Given the description of an element on the screen output the (x, y) to click on. 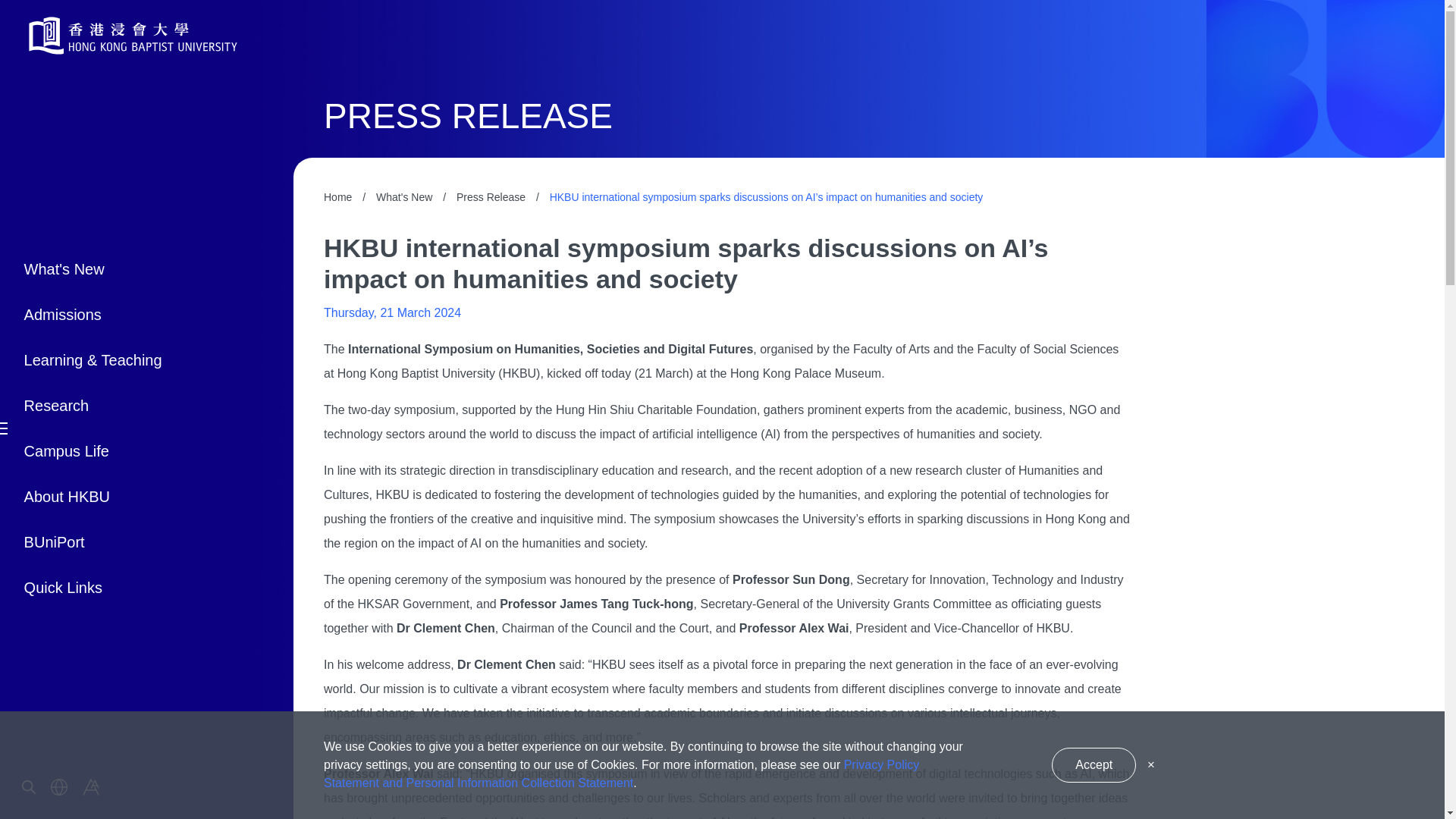
What's New (98, 268)
Admissions (98, 313)
